Given the description of an element on the screen output the (x, y) to click on. 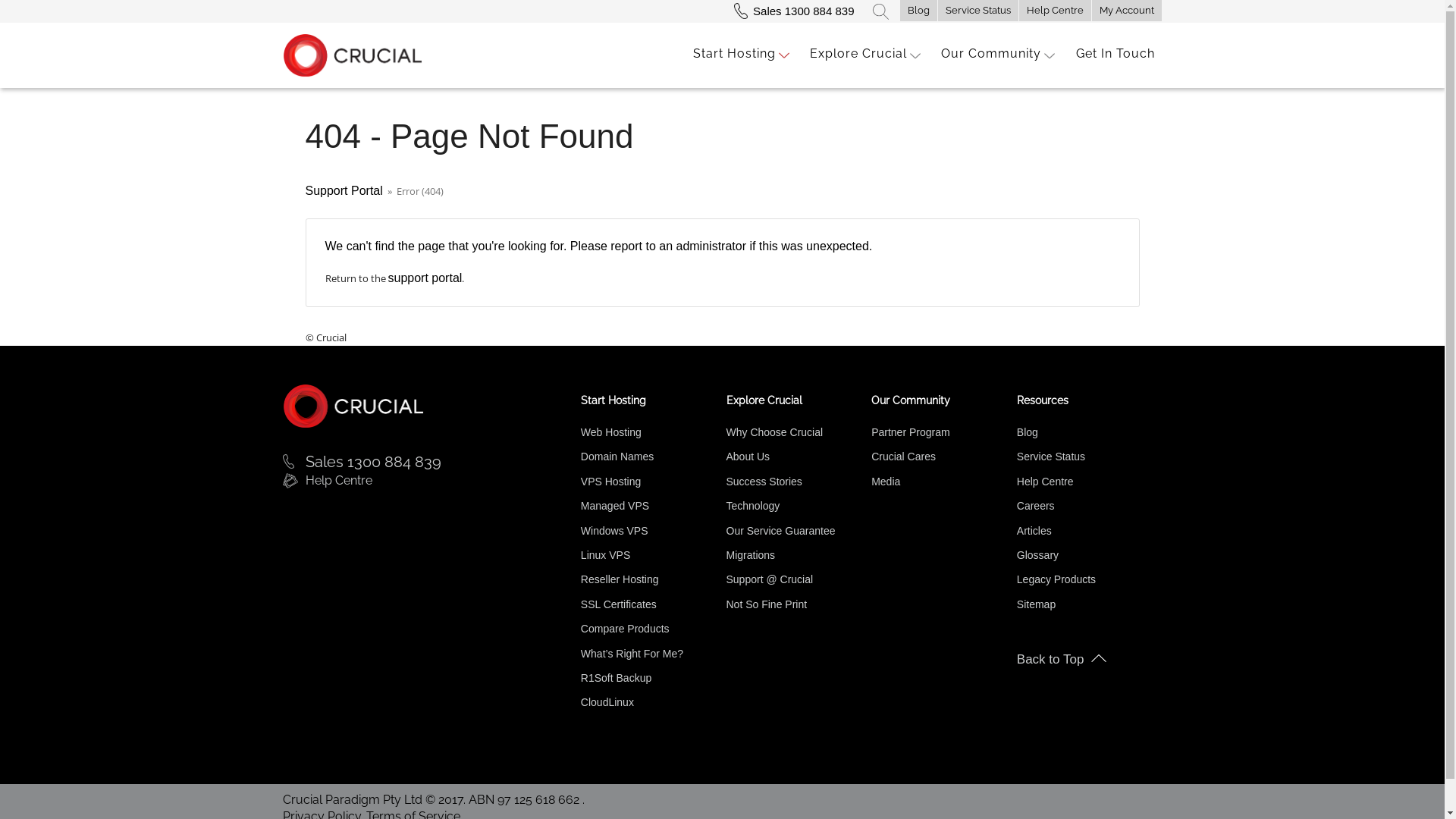
Why Choose Crucial Element type: text (774, 432)
Not So Fine Print Element type: text (766, 604)
Search Element type: text (880, 11)
Technology Element type: text (753, 505)
Legacy Products Element type: text (1055, 579)
Service Status Element type: text (1050, 456)
Blog Element type: text (917, 10)
Our Service Guarantee Element type: text (780, 530)
My Account Element type: text (1126, 10)
Crucial - If it's for business, it's Crucial. Element type: hover (352, 405)
Linux VPS Element type: text (605, 555)
Web Hosting Element type: text (610, 432)
Reseller Hosting Element type: text (619, 579)
Sales 1300 884 839 Element type: text (797, 11)
SSL Certificates Element type: text (618, 604)
Help Centre Element type: text (423, 480)
Help Centre Element type: text (1044, 481)
Explore Crucial Element type: text (857, 53)
Media Element type: text (885, 481)
Compare Products Element type: text (624, 628)
Crucial Cares Element type: text (903, 456)
Sales 1300 884 839 Element type: text (423, 461)
VPS Hosting Element type: text (610, 481)
About Us Element type: text (748, 456)
Start Hosting Element type: text (734, 53)
Domain Names Element type: text (616, 456)
R1Soft Backup Element type: text (615, 677)
Careers Element type: text (1035, 505)
Back to Top Element type: text (1089, 659)
Support @ Crucial Element type: text (769, 579)
support portal Element type: text (425, 277)
Windows VPS Element type: text (614, 530)
CloudLinux Element type: text (606, 702)
Service Status Element type: text (977, 10)
Migrations Element type: text (750, 555)
Managed VPS Element type: text (614, 505)
Glossary Element type: text (1037, 555)
Sitemap Element type: text (1035, 604)
Support Portal Element type: text (343, 190)
Get In Touch Element type: text (1114, 53)
Blog Element type: text (1027, 432)
Partner Program Element type: text (910, 432)
Success Stories Element type: text (764, 481)
Our Community Element type: text (990, 53)
Help Centre Element type: text (1054, 10)
Articles Element type: text (1033, 530)
